Given the description of an element on the screen output the (x, y) to click on. 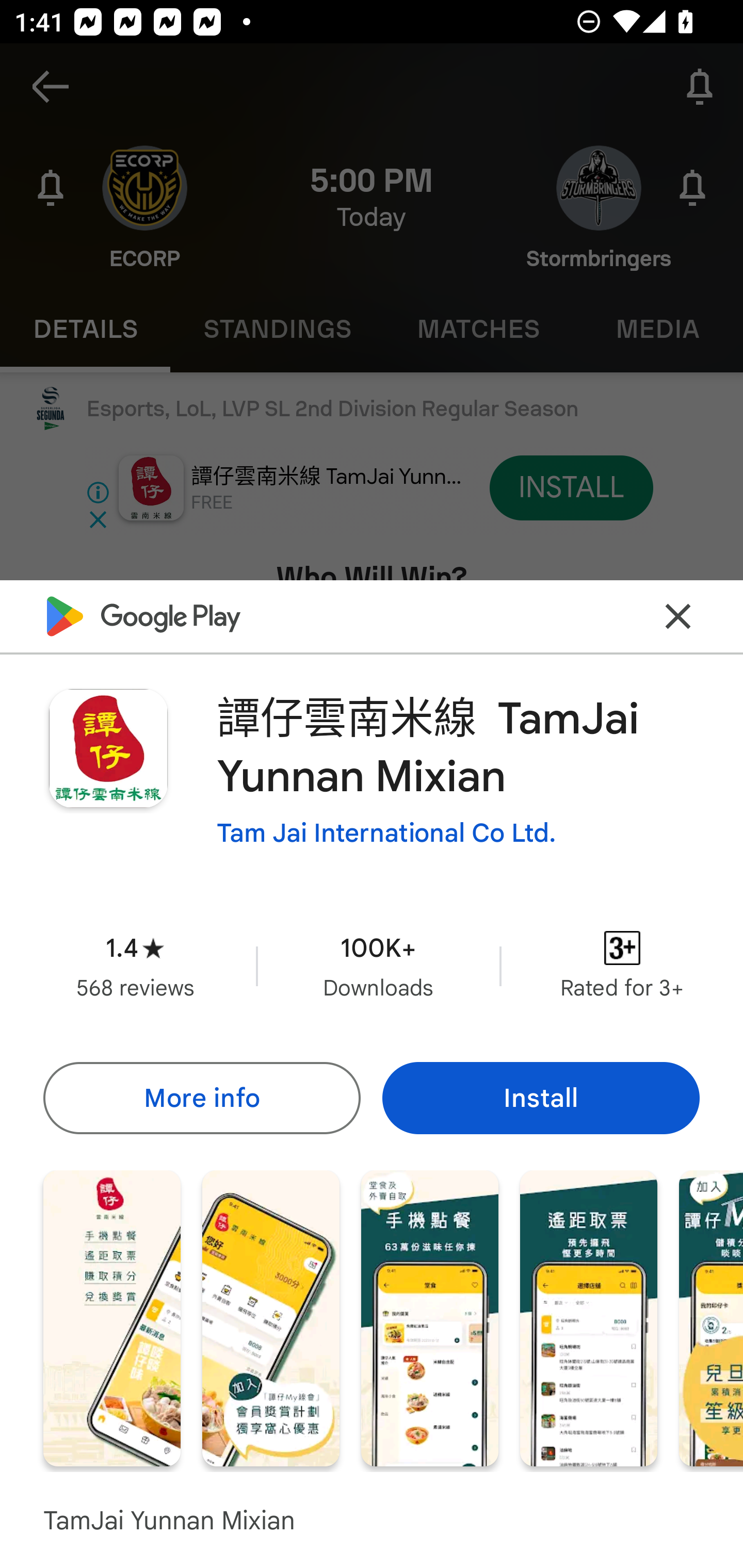
Close (677, 616)
Tam Jai International Co Ltd. (386, 832)
More info (201, 1097)
Install (540, 1097)
Screenshot "1" of "5" (111, 1317)
Screenshot "2" of "5" (270, 1317)
Screenshot "3" of "5" (429, 1317)
Screenshot "4" of "5" (588, 1317)
